Given the description of an element on the screen output the (x, y) to click on. 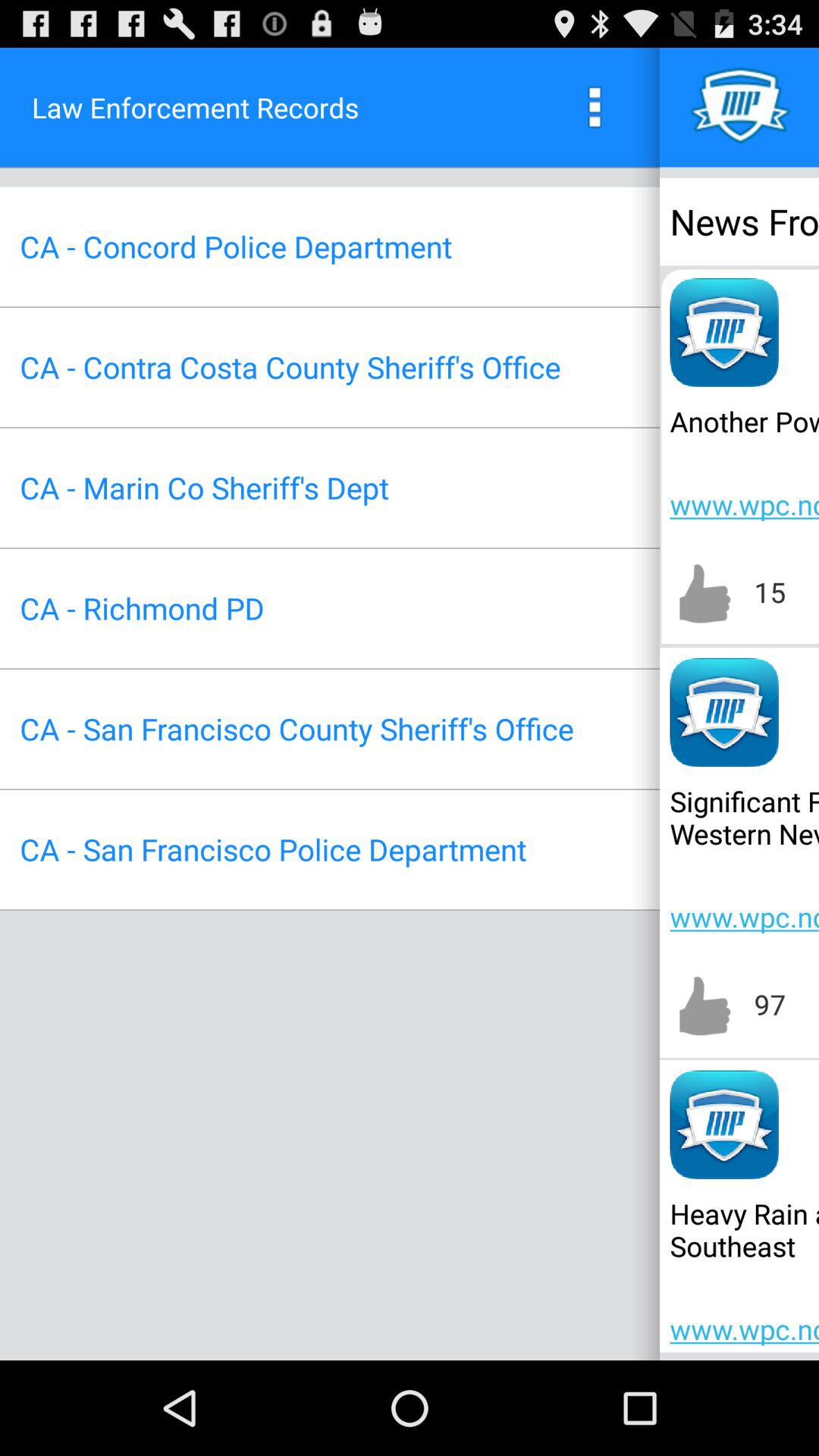
turn off app next to the www wpc ncep (204, 487)
